Given the description of an element on the screen output the (x, y) to click on. 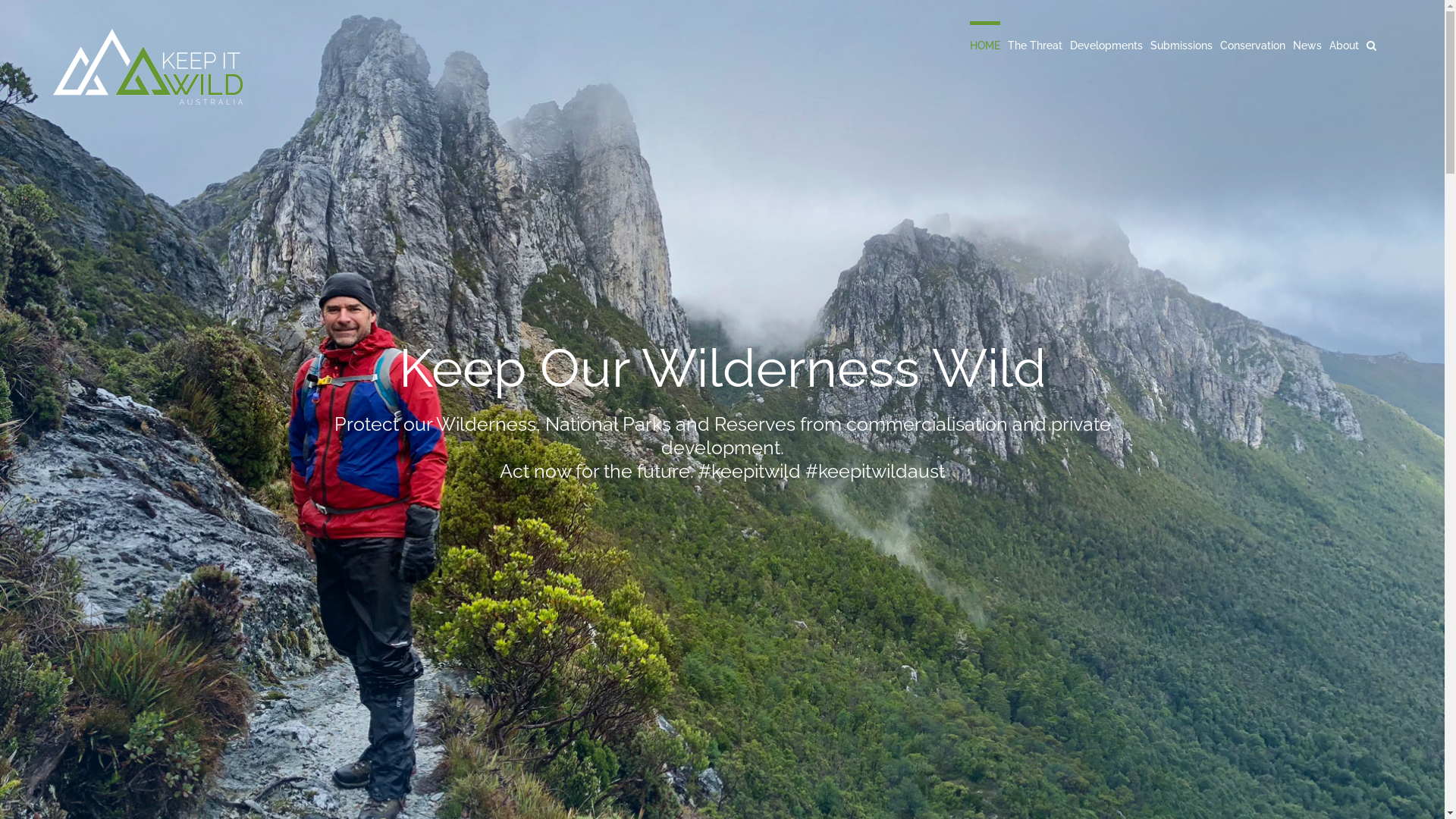
HOME Element type: text (984, 43)
News Element type: text (1306, 43)
Conservation Element type: text (1252, 43)
The Threat Element type: text (1034, 43)
Submissions Element type: text (1181, 43)
Search Element type: hover (1371, 43)
About Element type: text (1343, 43)
Developments Element type: text (1106, 43)
